Given the description of an element on the screen output the (x, y) to click on. 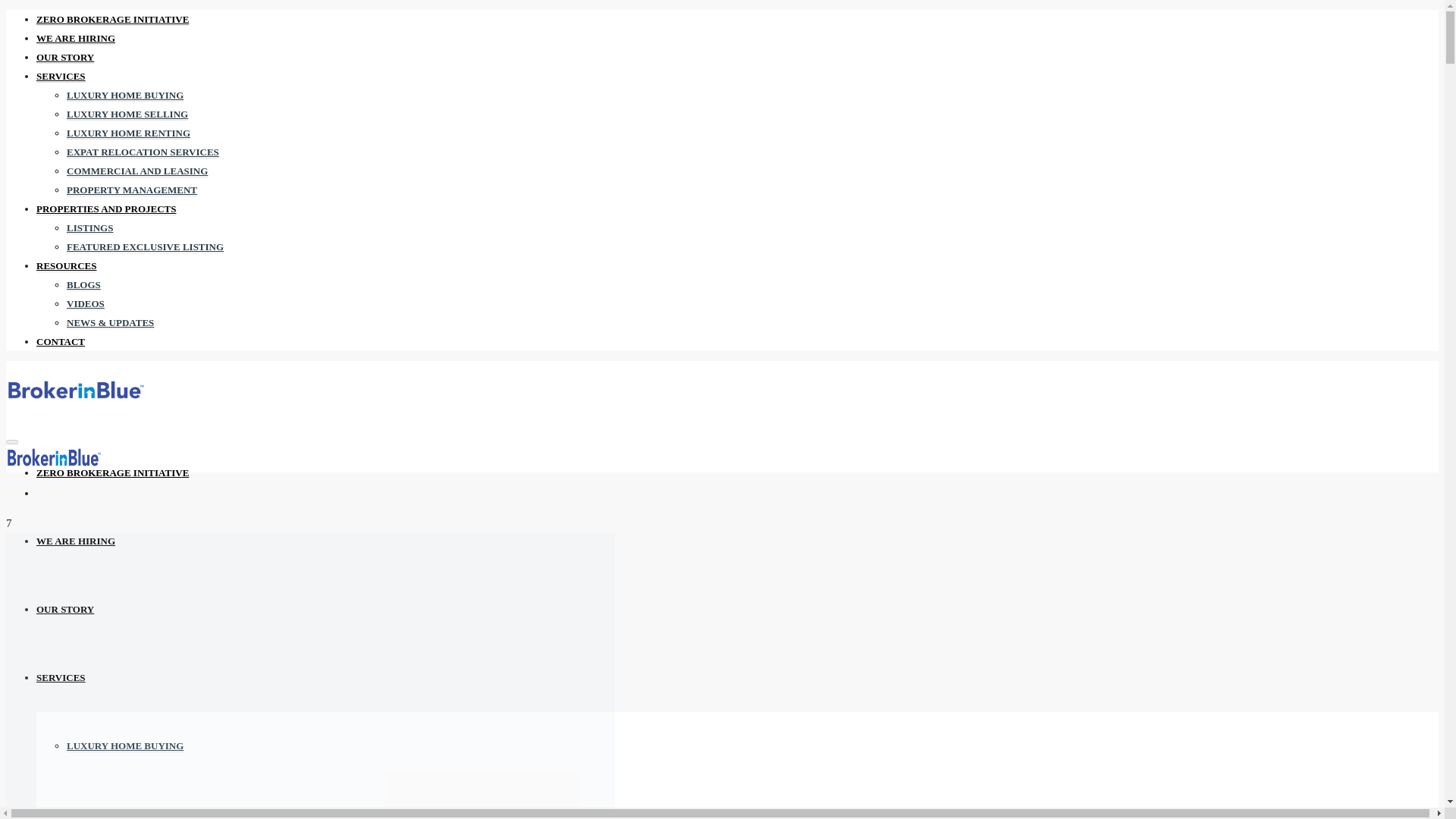
RESOURCES (66, 265)
PROPERTY MANAGEMENT (131, 190)
LUXURY HOME SELLING (126, 813)
WE ARE HIRING (75, 541)
LISTINGS (89, 227)
SERVICES (60, 677)
OUR STORY (65, 57)
BLOGS (83, 285)
FEATURED EXCLUSIVE LISTING (145, 246)
LUXURY HOME BUYING (124, 95)
